Given the description of an element on the screen output the (x, y) to click on. 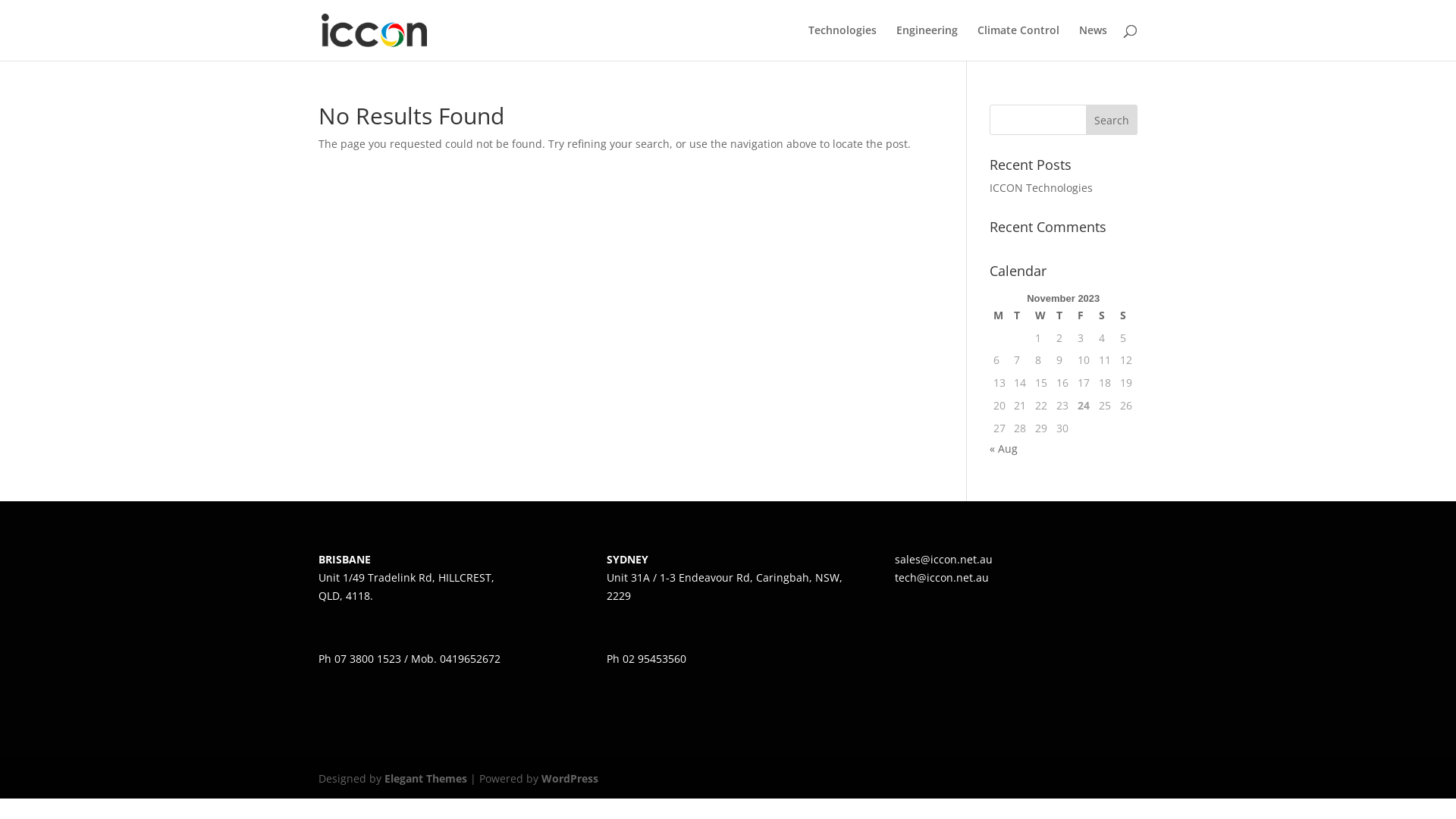
tech@iccon.net.au Element type: text (941, 577)
Elegant Themes Element type: text (425, 778)
sales@iccon.net.au Element type: text (943, 559)
Climate Control Element type: text (1018, 42)
ICCON Technologies Element type: text (1040, 187)
Search Element type: text (1111, 119)
Engineering Element type: text (926, 42)
News Element type: text (1093, 42)
Technologies Element type: text (842, 42)
WordPress Element type: text (569, 778)
